Given the description of an element on the screen output the (x, y) to click on. 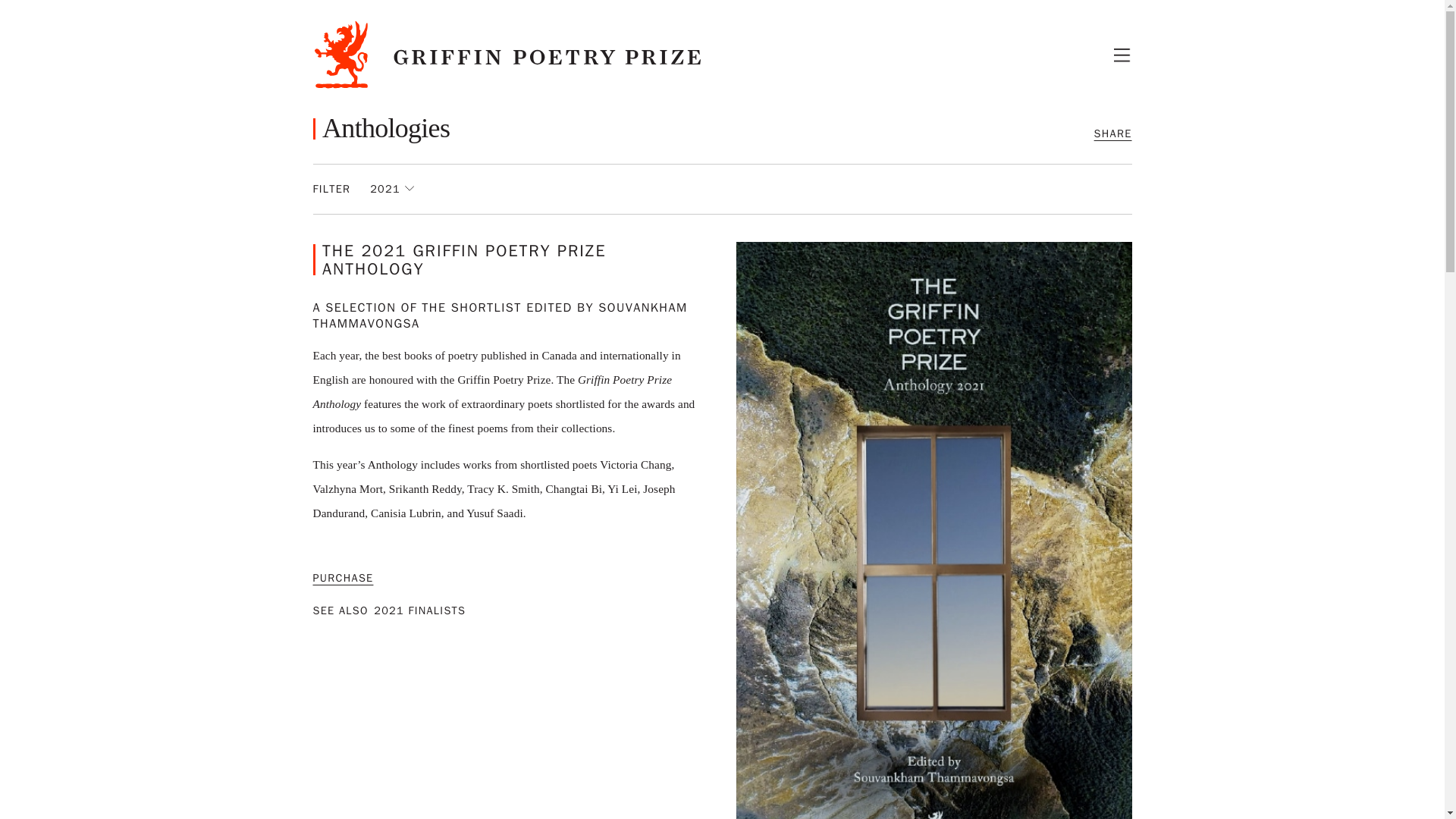
2021 (391, 189)
Griffin Poetry Prize (510, 55)
TOGGLE NAVIGATION MENU (1121, 54)
Anthologies (381, 128)
SHARE (1113, 134)
